Given the description of an element on the screen output the (x, y) to click on. 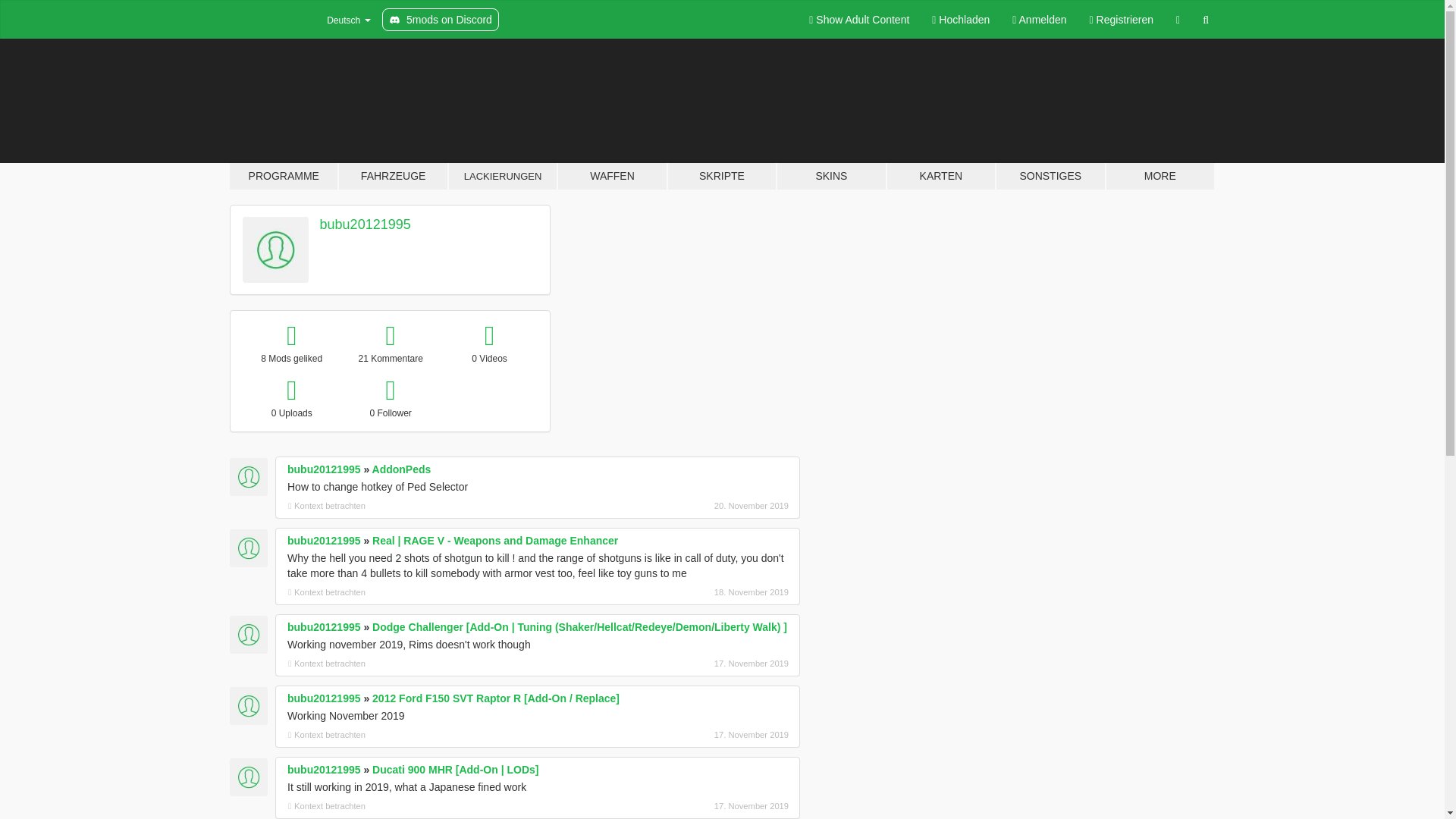
Anmelden (1039, 19)
Sonntag, 17. November 2019, 12:29 Uhr (708, 806)
Montag, 18. November 2019, 07:47 Uhr (708, 591)
5mods on Discord (440, 19)
  Deutsch (338, 19)
Show Adult Content (858, 19)
Sonntag, 17. November 2019, 15:35 Uhr (708, 663)
Hochladen (960, 19)
Registrieren (1122, 19)
Sonntag, 17. November 2019, 14:01 Uhr (708, 735)
